Given the description of an element on the screen output the (x, y) to click on. 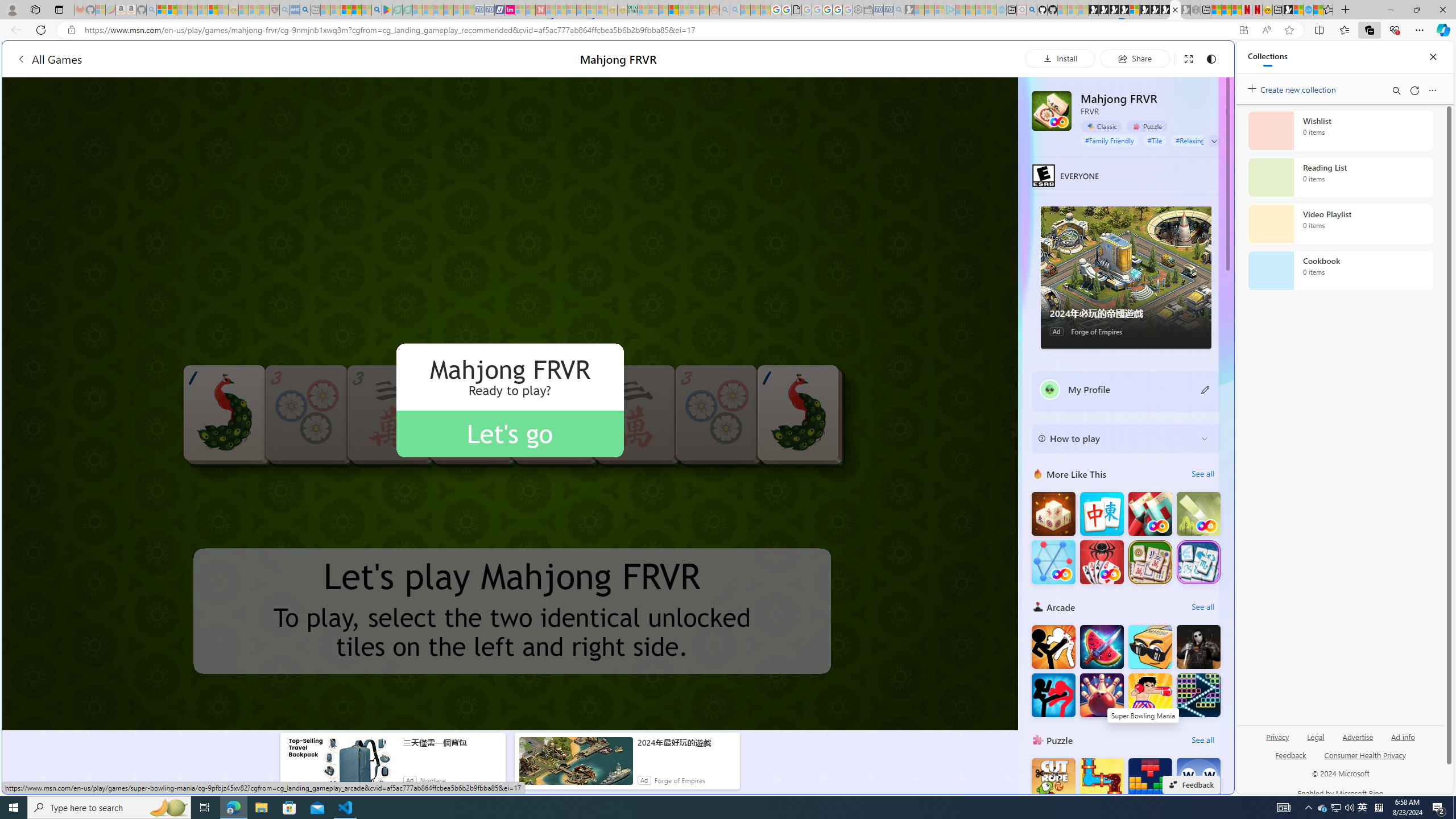
Fruit Chopper (1101, 646)
Change to dark mode (1211, 58)
Class: expand-arrow neutral (1214, 141)
EVERYONE (1043, 175)
Puzzle (1146, 126)
Bluey: Let's Play! - Apps on Google Play (387, 9)
